Given the description of an element on the screen output the (x, y) to click on. 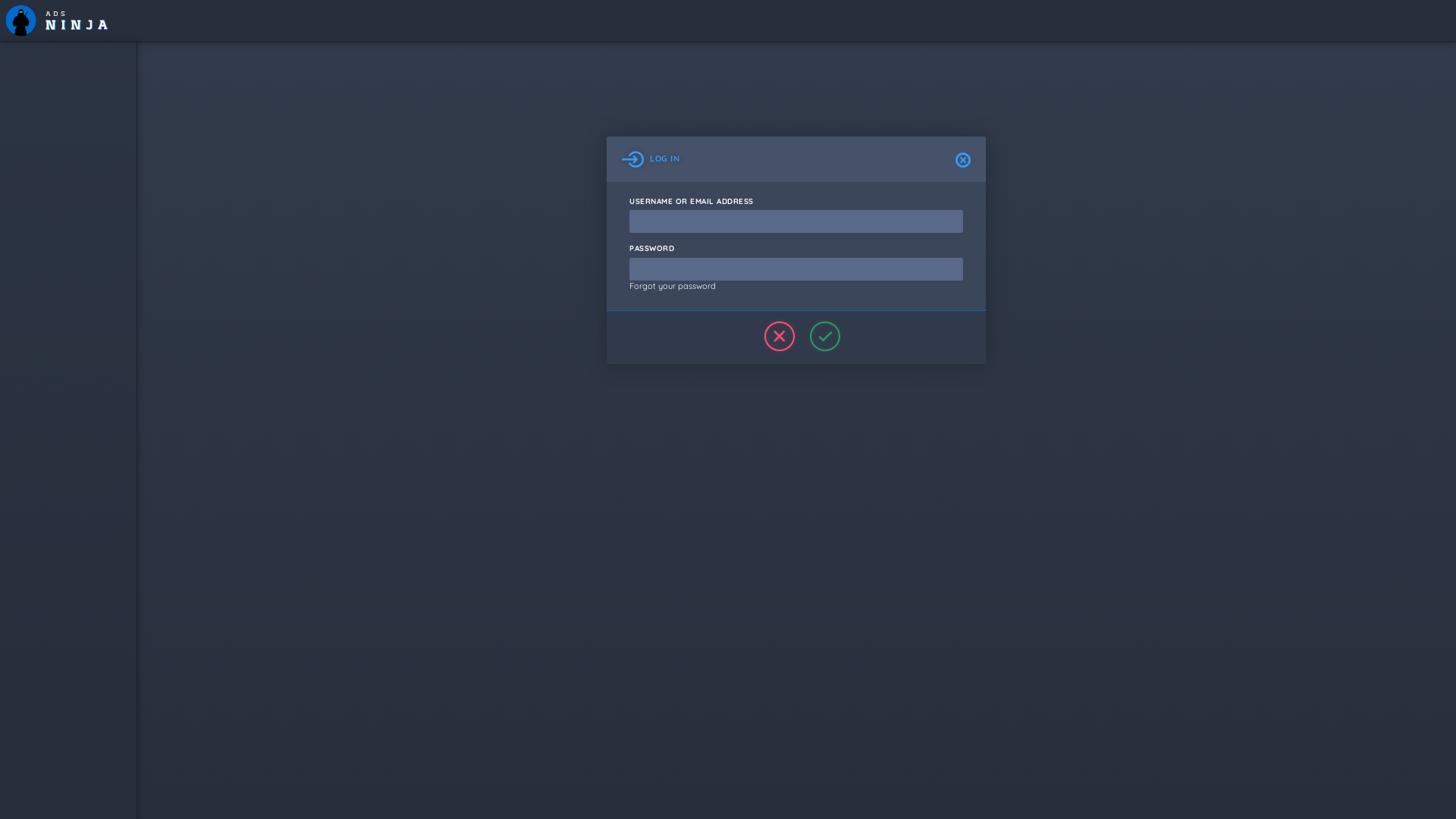
CANCEL Element type: text (773, 337)
LOG IN Element type: text (818, 337)
Forgot your password Element type: text (672, 285)
